Given the description of an element on the screen output the (x, y) to click on. 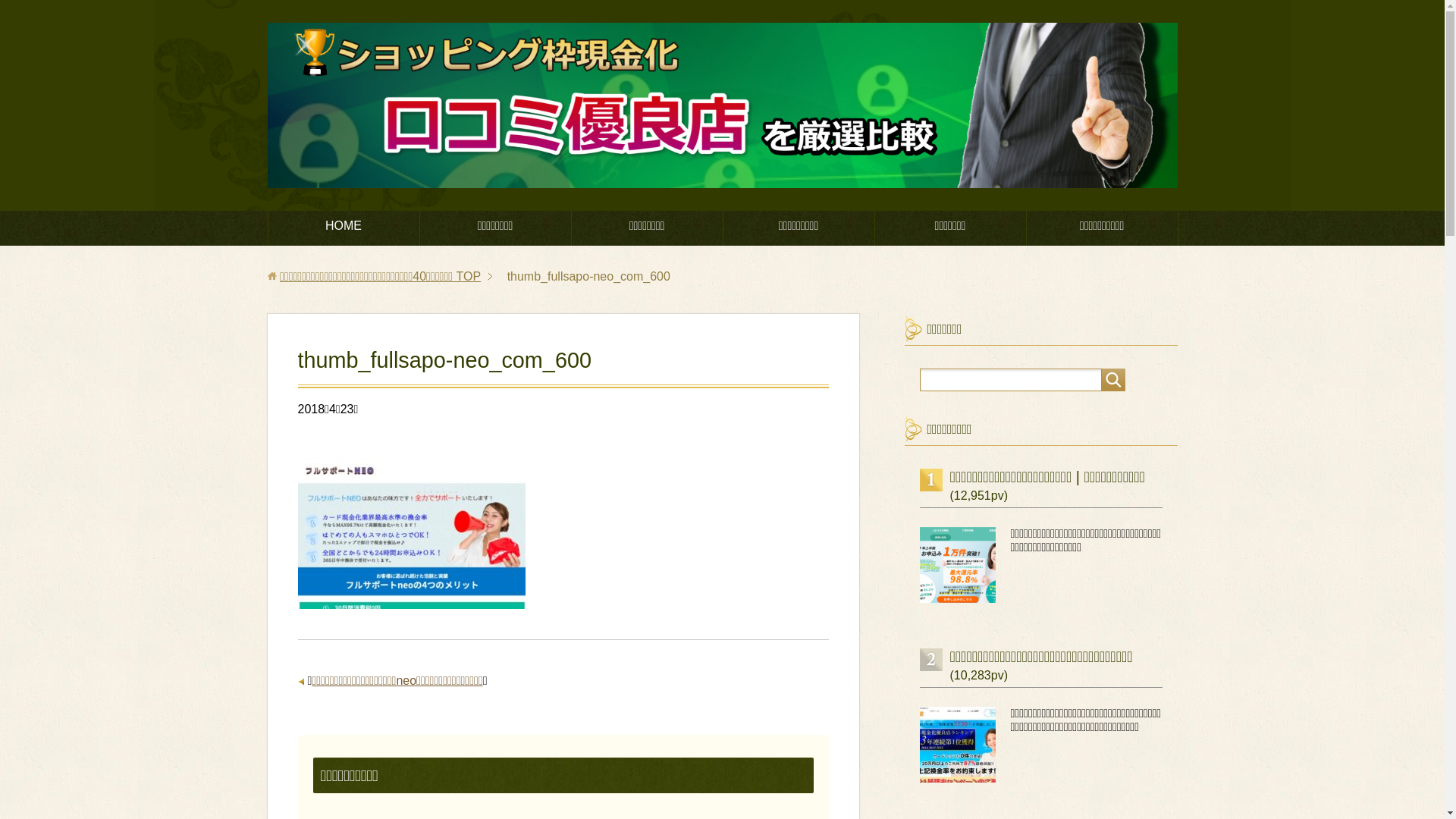
HOME Element type: text (343, 227)
